Given the description of an element on the screen output the (x, y) to click on. 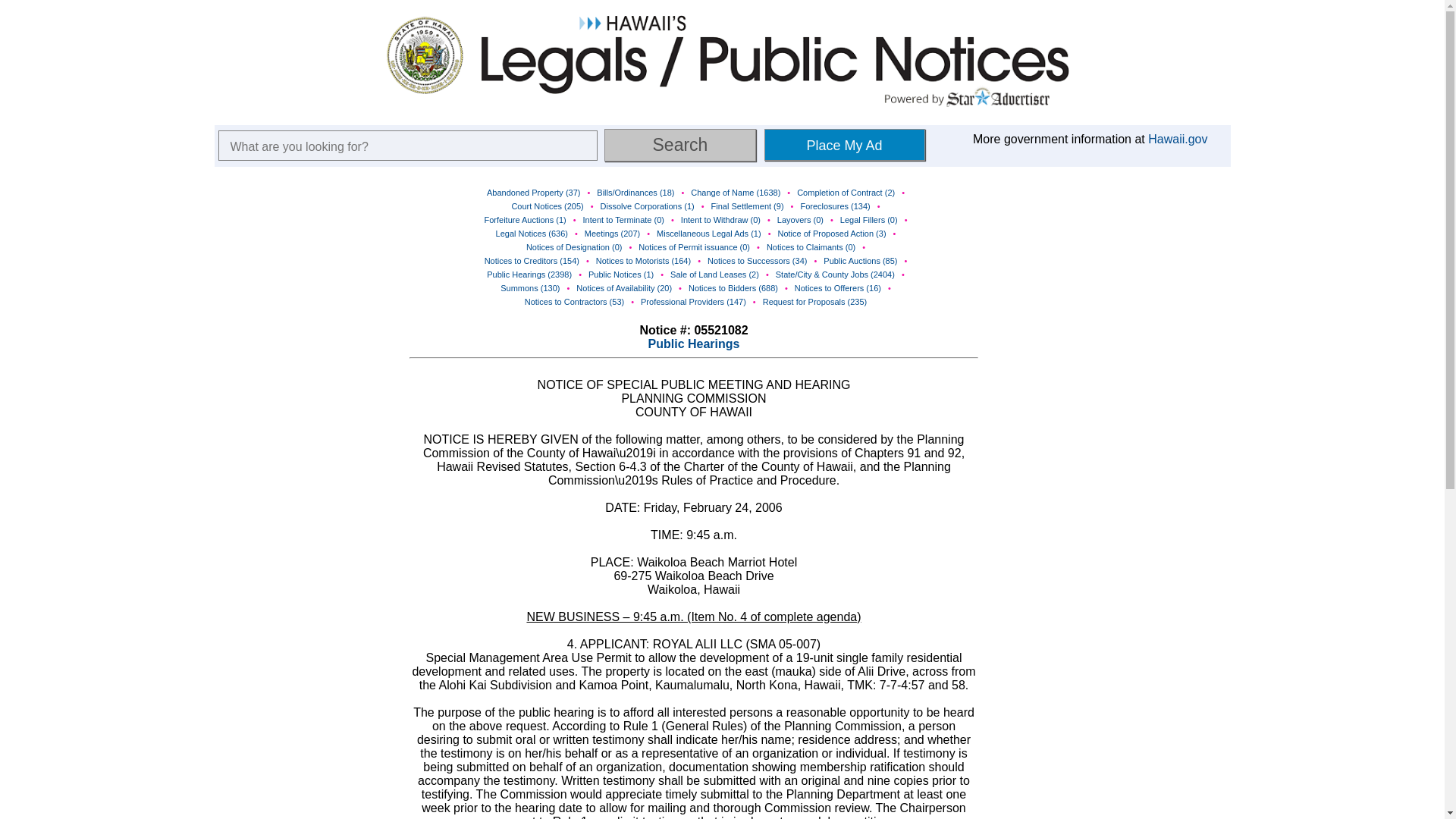
Search for: (407, 145)
Search (679, 144)
Place My Ad (844, 144)
Hawaii.gov (1177, 138)
Public Hearings (693, 343)
Search (679, 144)
